Given the description of an element on the screen output the (x, y) to click on. 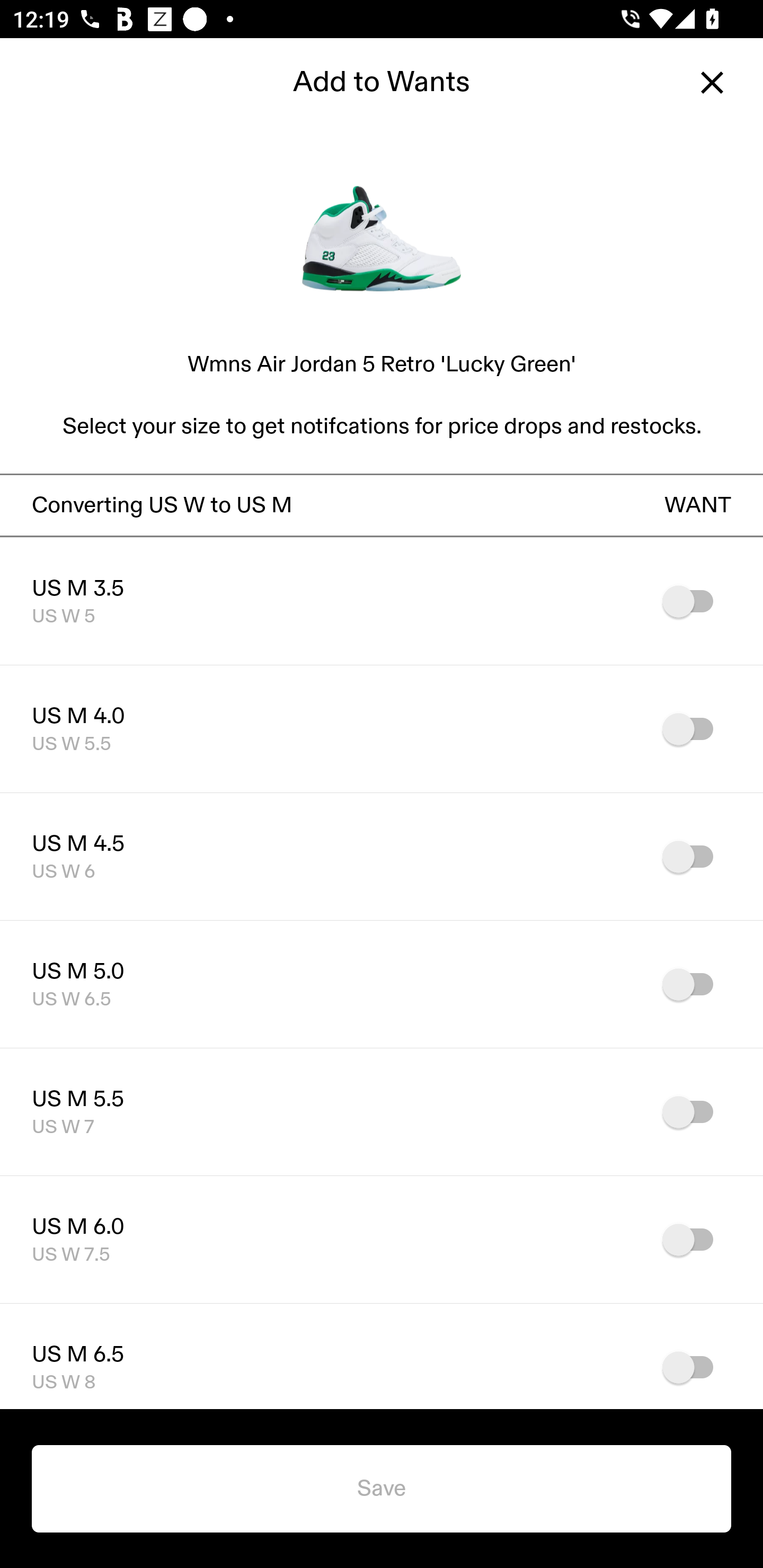
Save (381, 1488)
